Given the description of an element on the screen output the (x, y) to click on. 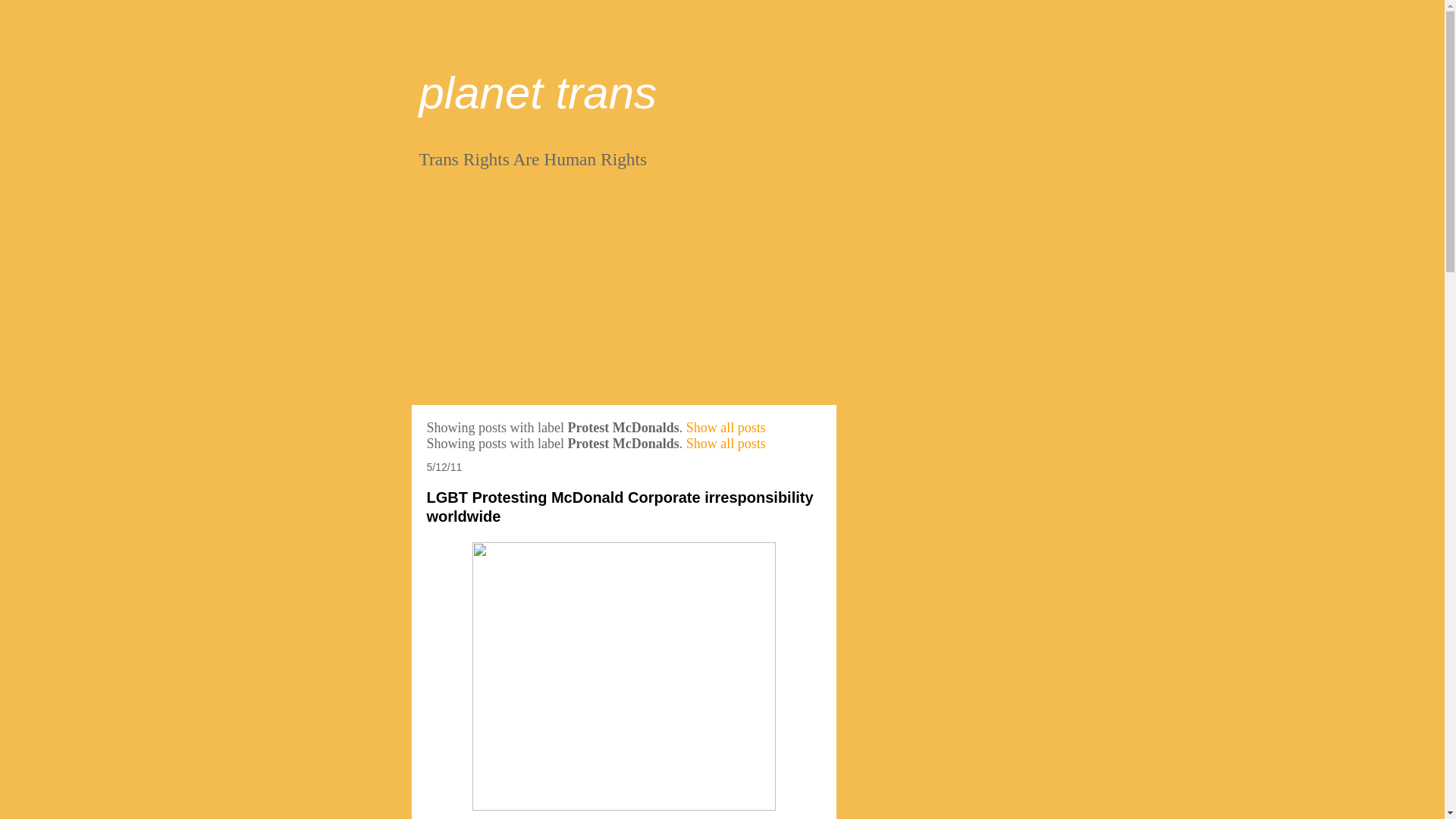
Show all posts (725, 427)
planet trans (537, 92)
Show all posts (725, 443)
